Given the description of an element on the screen output the (x, y) to click on. 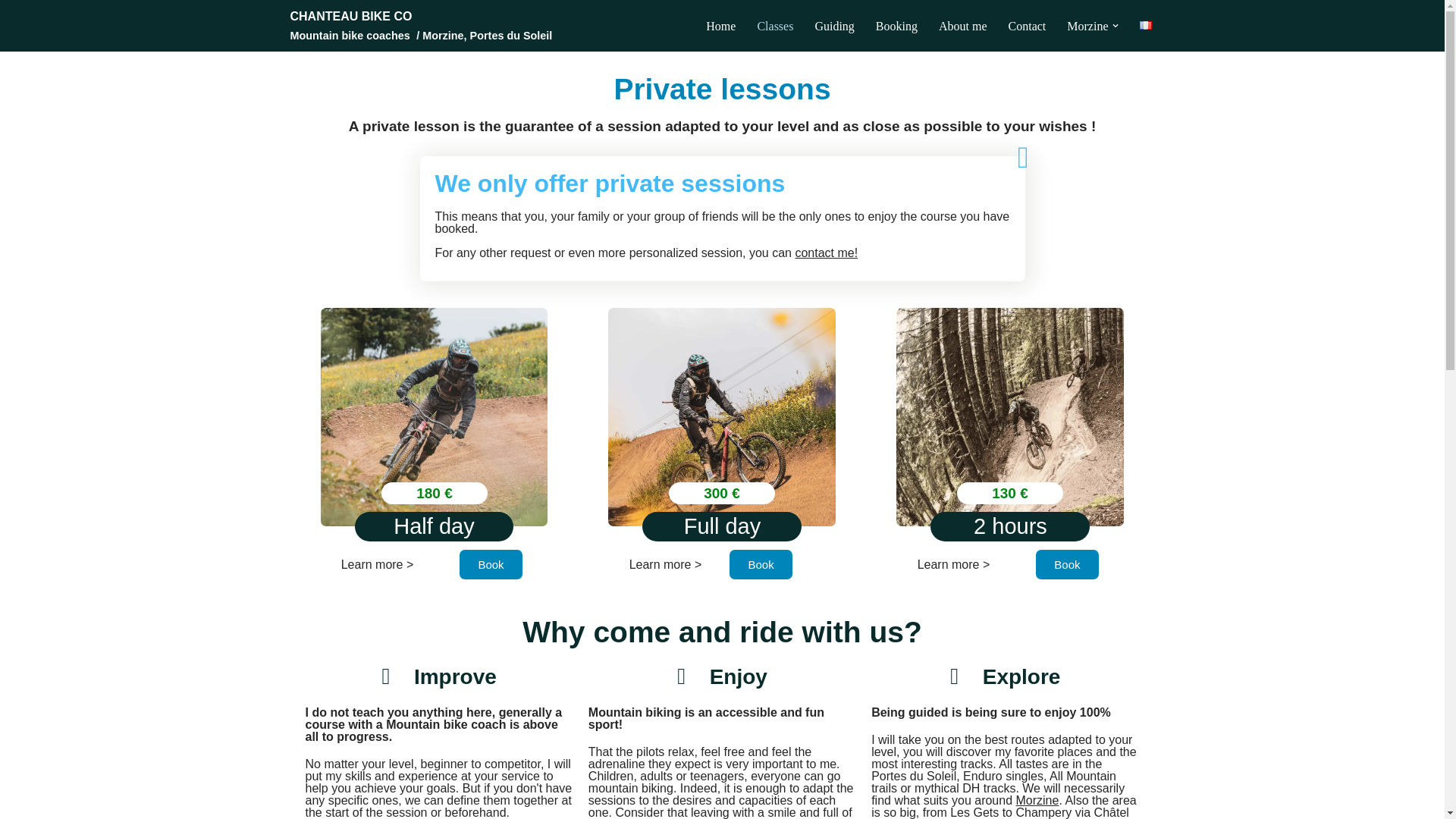
Booking (896, 25)
Morzine (1087, 25)
Morzine (1037, 799)
Book (760, 564)
Home (720, 25)
Guiding (833, 25)
Classes (775, 25)
About me (963, 25)
Contact (1027, 25)
contact me! (825, 252)
